Given the description of an element on the screen output the (x, y) to click on. 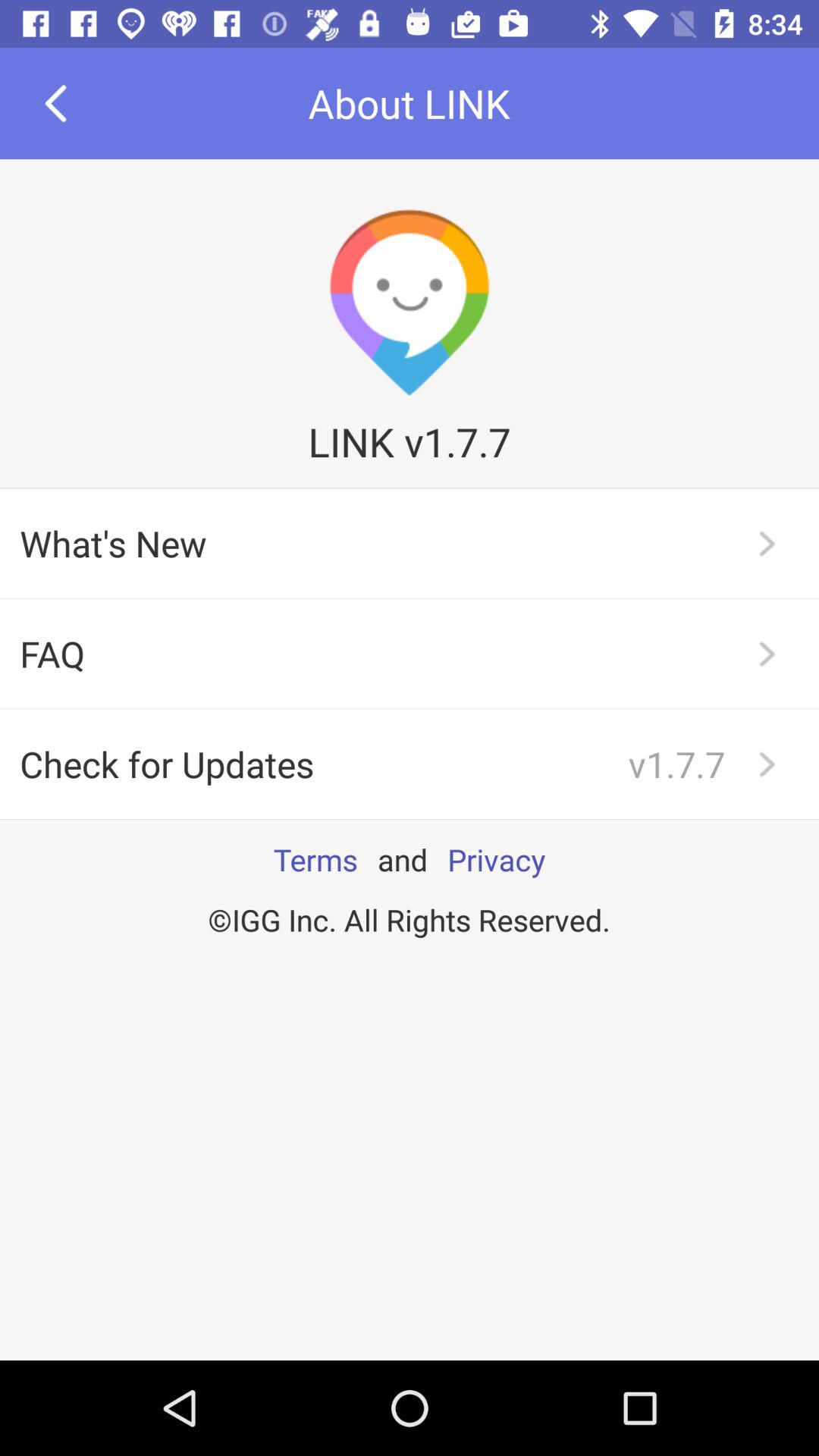
swipe until the faq app (409, 653)
